Given the description of an element on the screen output the (x, y) to click on. 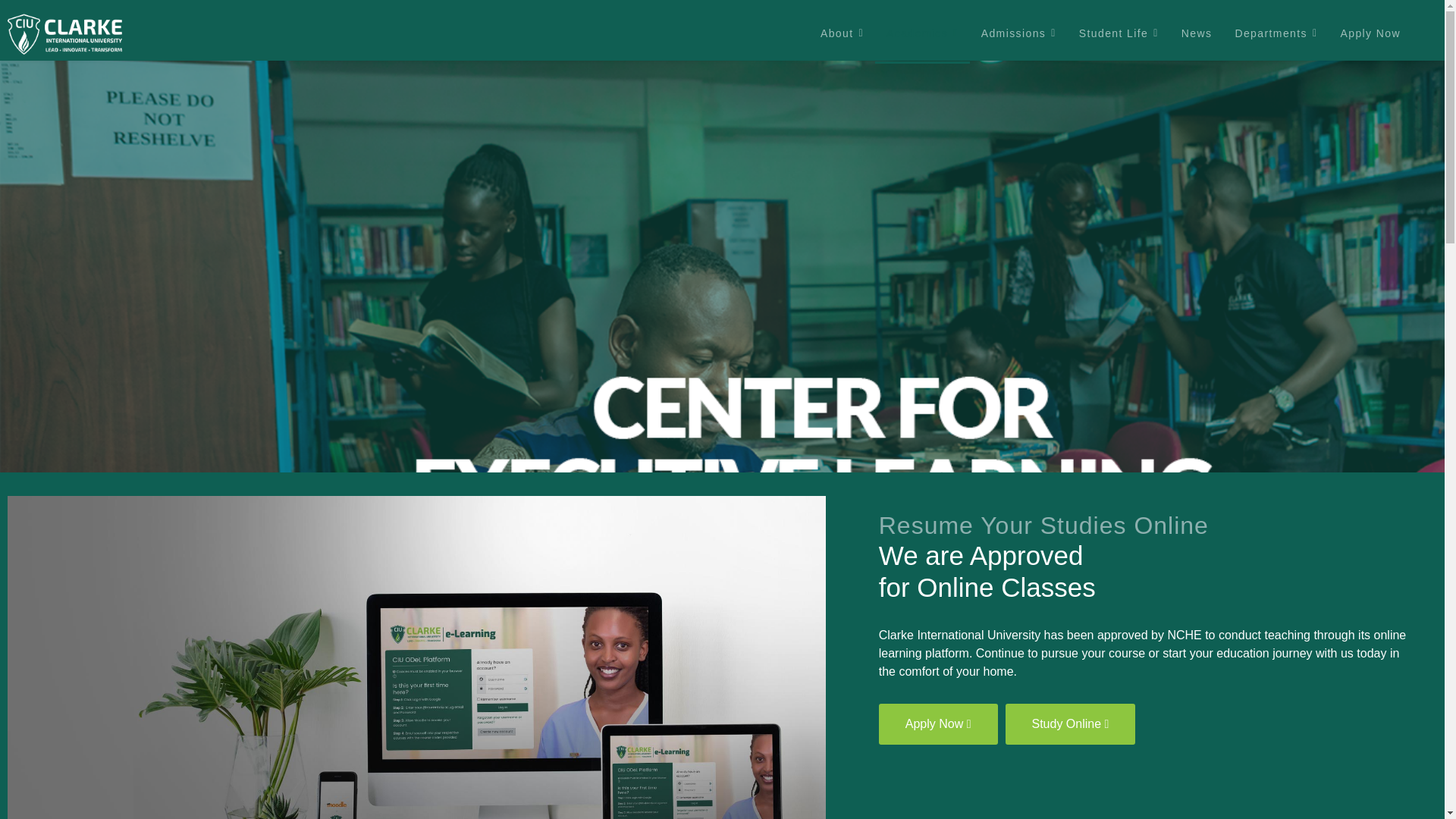
Study Online (1070, 723)
Apply Now (938, 723)
Departments (1275, 33)
About (842, 33)
Apply Now (1369, 33)
Academics (922, 33)
Student Life (1118, 33)
Admissions (1018, 33)
